Given the description of an element on the screen output the (x, y) to click on. 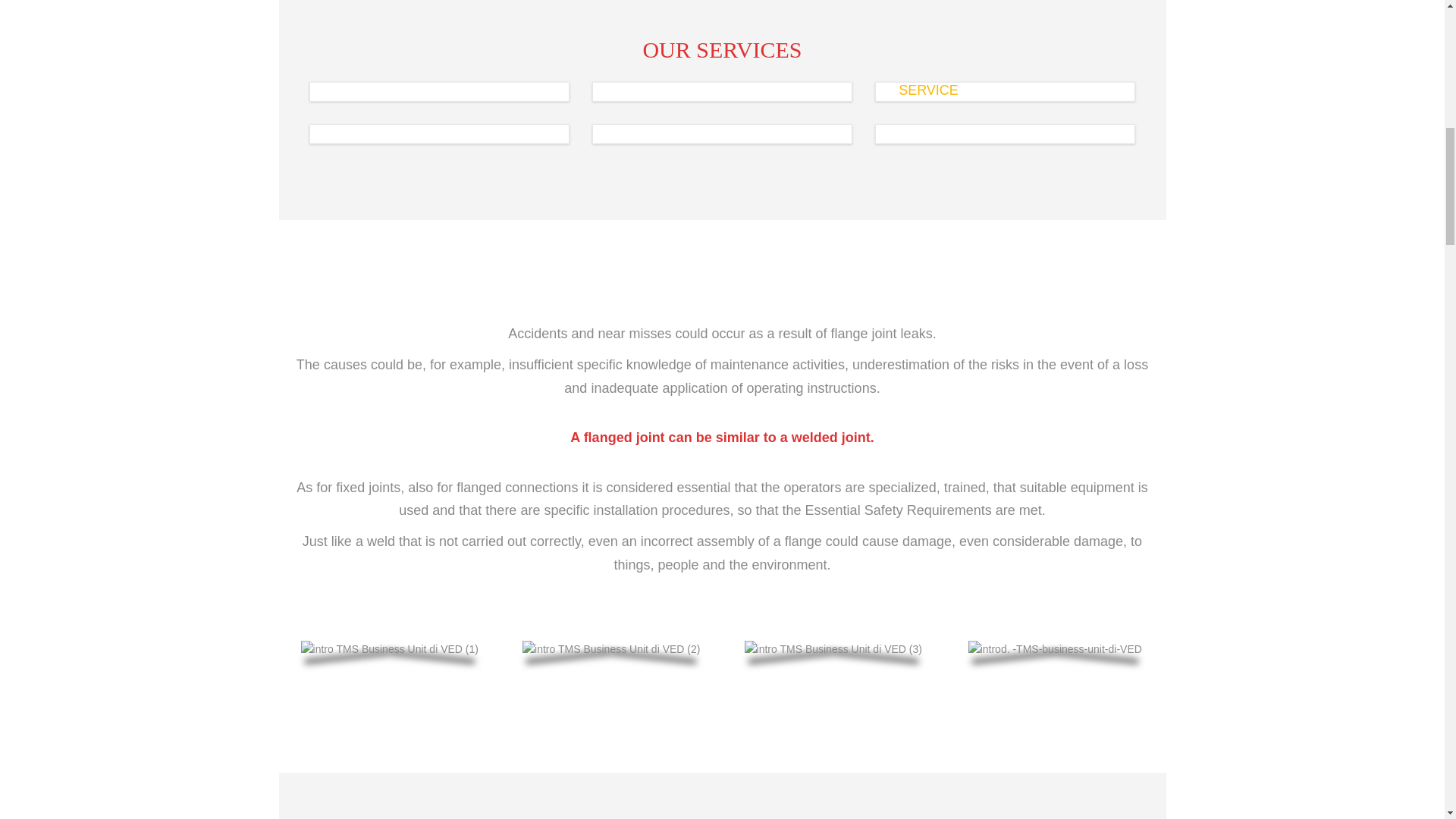
FULL BOLTING SERVICE (411, 76)
LEARN MORE (645, 160)
TUBE BUNDLE EXTRACTION (992, 118)
LEARN MORE (645, 117)
LEARN MORE (361, 117)
GRAFACE (648, 118)
STP (344, 118)
LEARN MORE (928, 117)
LEARN MORE (361, 160)
APPLYING WASHERS (685, 76)
LEARN MORE (928, 160)
introd. -TMS-business-unit-di-VED (1054, 649)
